Given the description of an element on the screen output the (x, y) to click on. 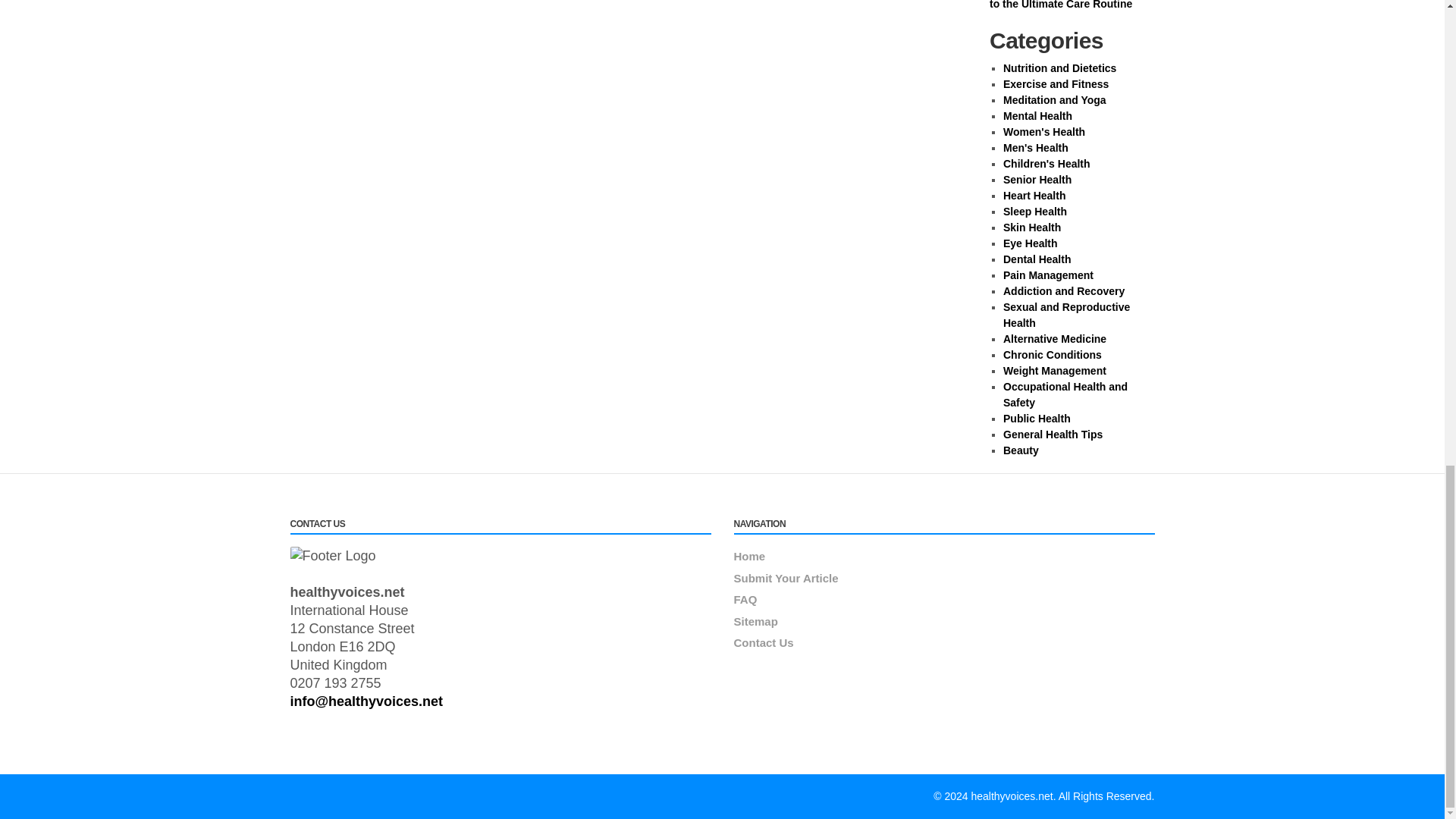
Mental Health (1037, 115)
Heart Health (1034, 195)
Sleep Health (1035, 211)
Exercise and Fitness (1055, 83)
Women's Health (1043, 132)
Men's Health (1035, 147)
Glowing Skin Unveiled: A Guide to the Ultimate Care Routine (1070, 4)
Nutrition and Dietetics (1059, 68)
Meditation and Yoga (1054, 100)
Senior Health (1037, 179)
